Given the description of an element on the screen output the (x, y) to click on. 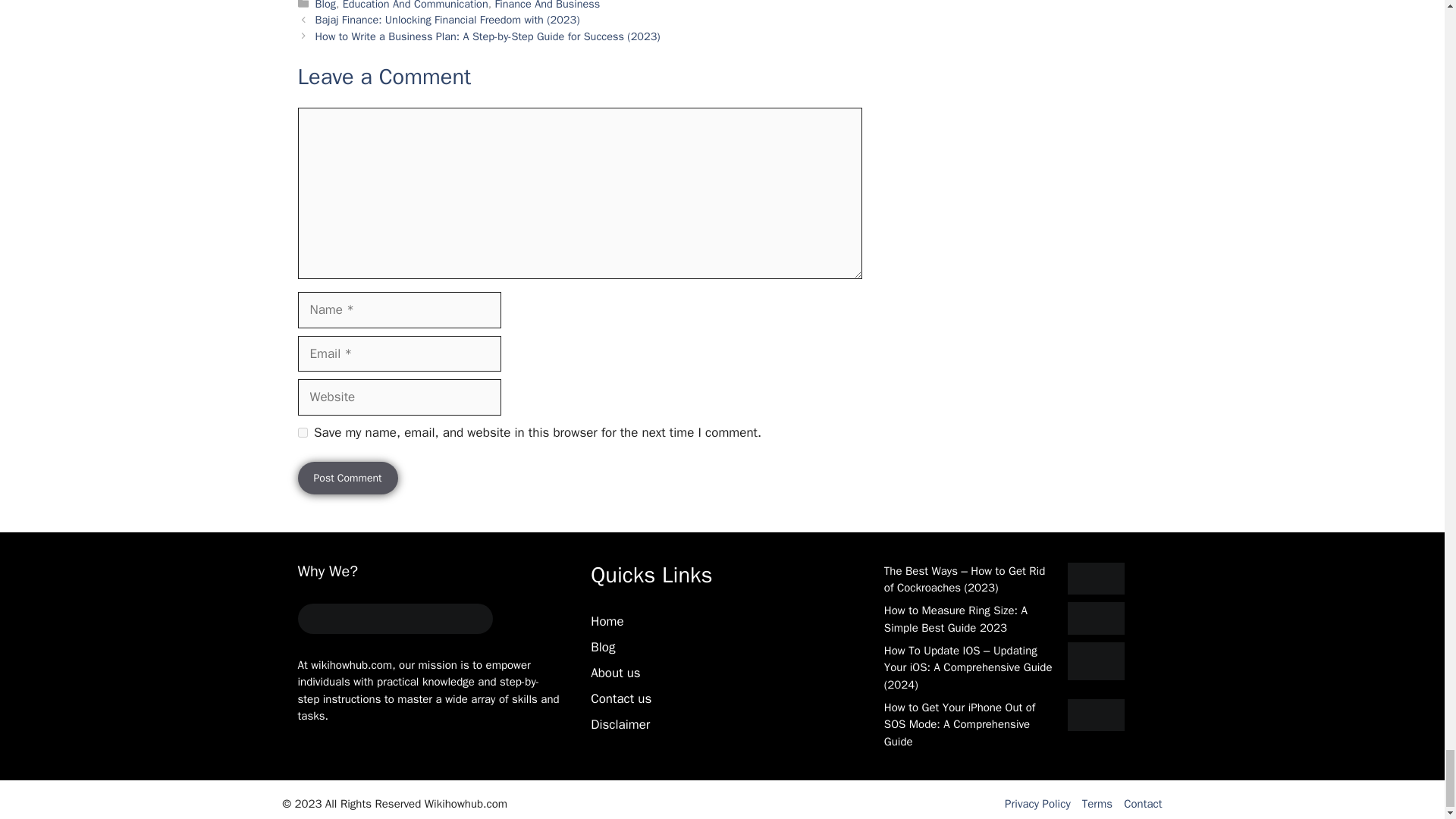
Post Comment (347, 477)
yes (302, 432)
